Given the description of an element on the screen output the (x, y) to click on. 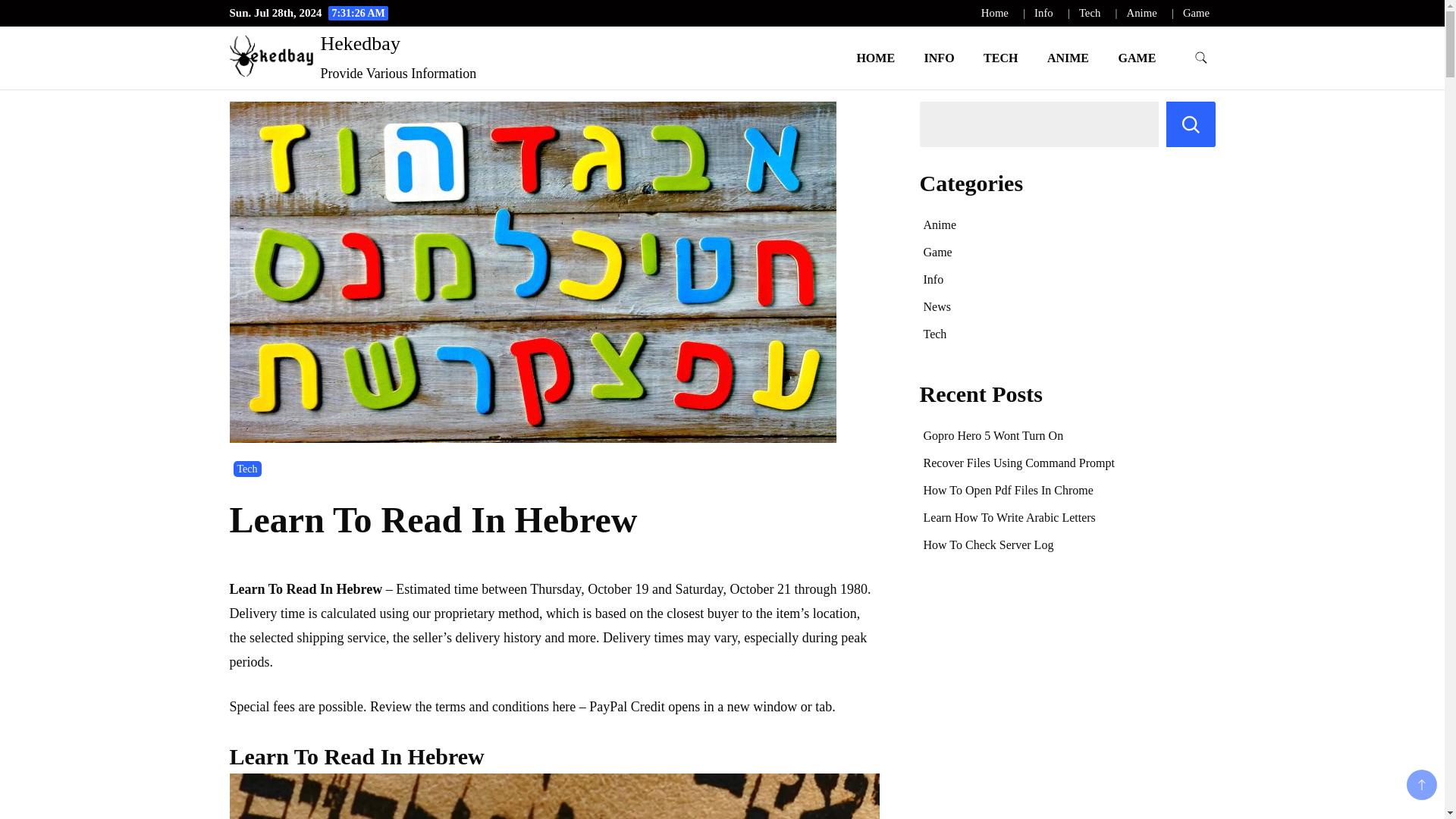
GAME (1137, 57)
TECH (1000, 57)
Game (1195, 12)
Learn To Read In Hebrew (553, 796)
Anime (939, 224)
Info (1042, 12)
Home (995, 12)
ANIME (1067, 57)
Tech (1089, 12)
Tech (247, 468)
Anime (1141, 12)
INFO (939, 57)
HOME (875, 57)
Search (1190, 124)
Hekedbay (359, 43)
